Given the description of an element on the screen output the (x, y) to click on. 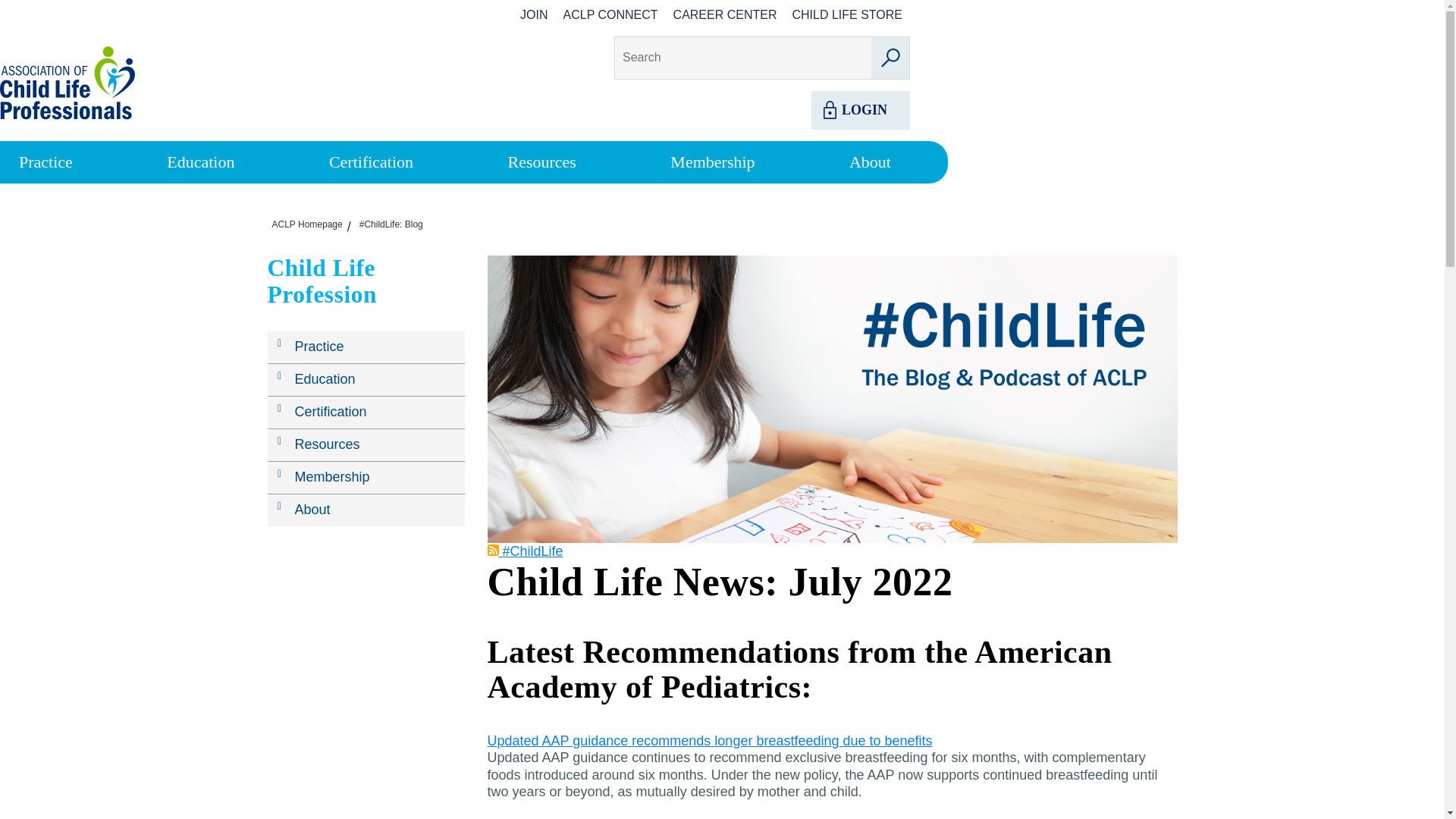
Child life profession blog (391, 224)
CHILD LIFE STORE (846, 14)
Membership (711, 160)
Resources (542, 160)
JOIN (533, 14)
Search (889, 56)
ACLP CONNECT (610, 14)
LOGIN (860, 109)
aclp-logo (67, 82)
Search input (784, 56)
Certification (371, 160)
Practice (45, 160)
Education (200, 160)
CAREER CENTER (724, 14)
